Given the description of an element on the screen output the (x, y) to click on. 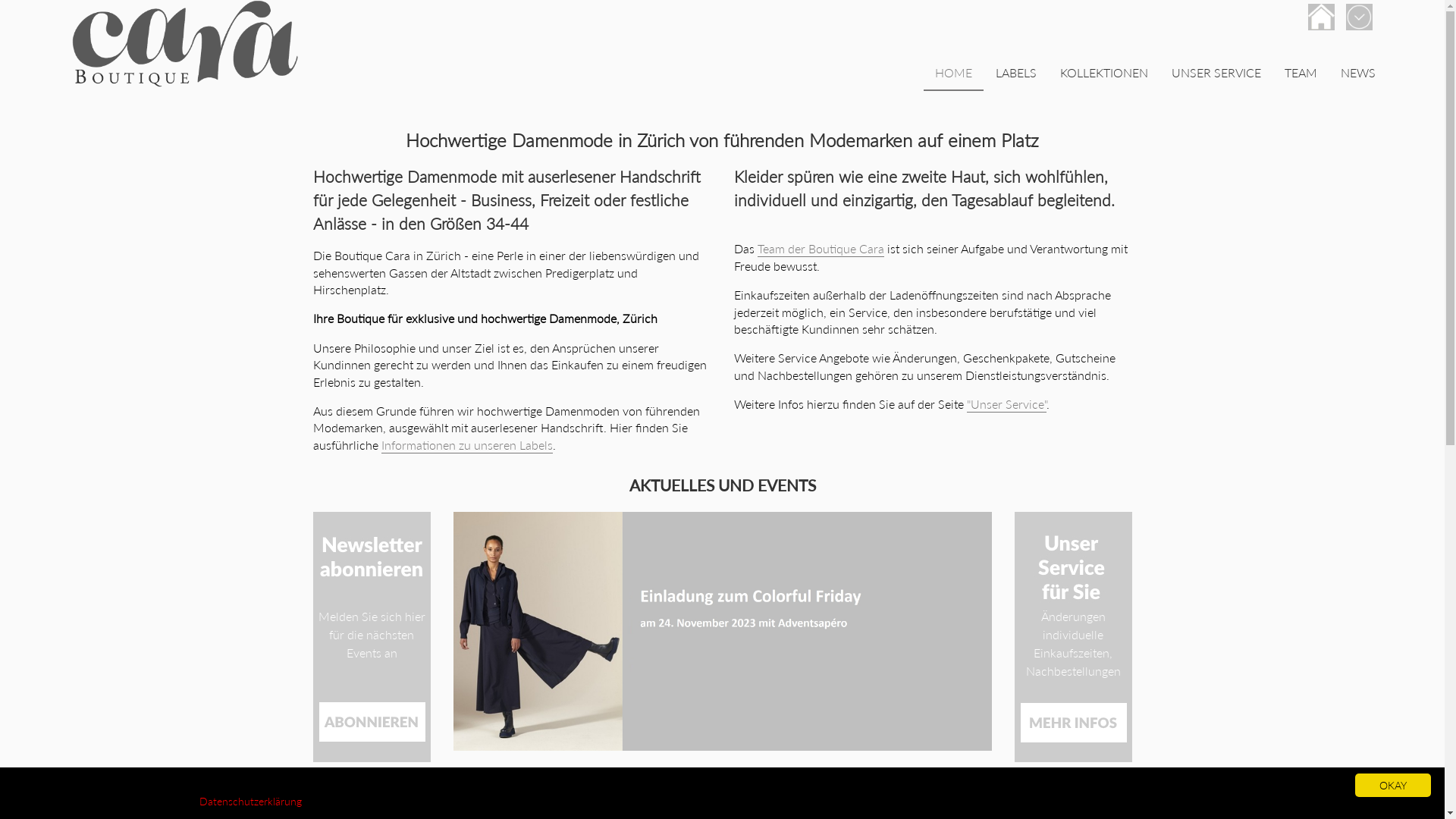
Team der Boutique Cara Element type: text (819, 249)
KOLLEKTIONEN Element type: text (1103, 73)
LABELS Element type: text (1016, 73)
UNSER SERVICE Element type: text (1216, 73)
Logo Boutique Cara Element type: text (185, 43)
Kontakt, Anfahrt Element type: hover (1321, 16)
"Unser Service" Element type: text (1005, 404)
NEWS Element type: text (1357, 73)
Informationen zu unseren Labels Element type: text (466, 445)
TEAM Element type: text (1300, 73)
HOME Element type: text (953, 73)
